Given the description of an element on the screen output the (x, y) to click on. 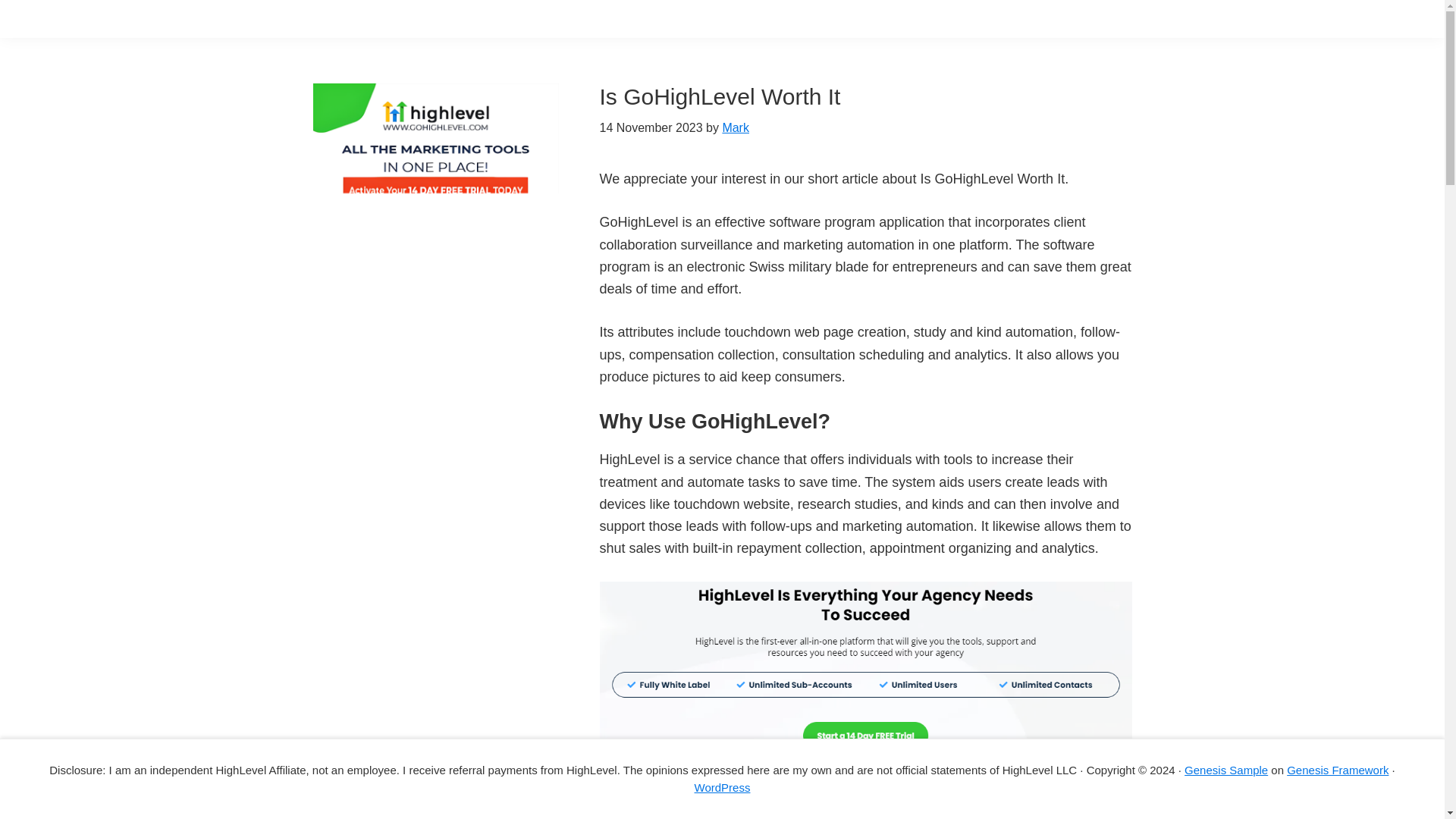
Genesis Sample (1226, 769)
Genesis Framework (1338, 769)
Mark (735, 127)
WordPress (722, 787)
